Given the description of an element on the screen output the (x, y) to click on. 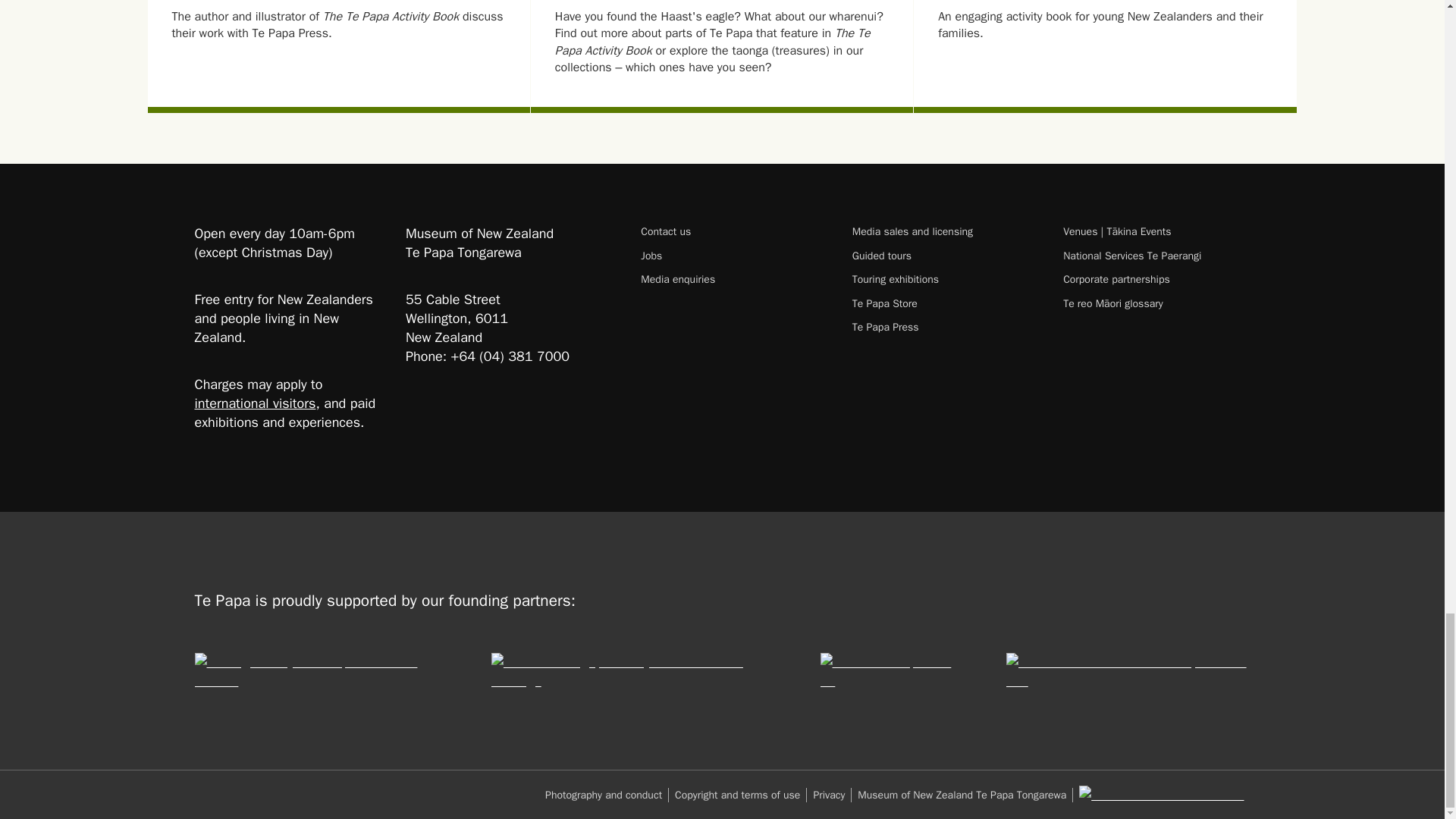
Media enquiries (733, 278)
National Services Te Paerangi (1155, 255)
Media sales and licensing (945, 231)
Contact us (733, 231)
New Zealand Government (1160, 794)
Touring exhibitions (945, 278)
Jobs (733, 255)
Te Papa Press (945, 327)
international visitors (254, 402)
